Given the description of an element on the screen output the (x, y) to click on. 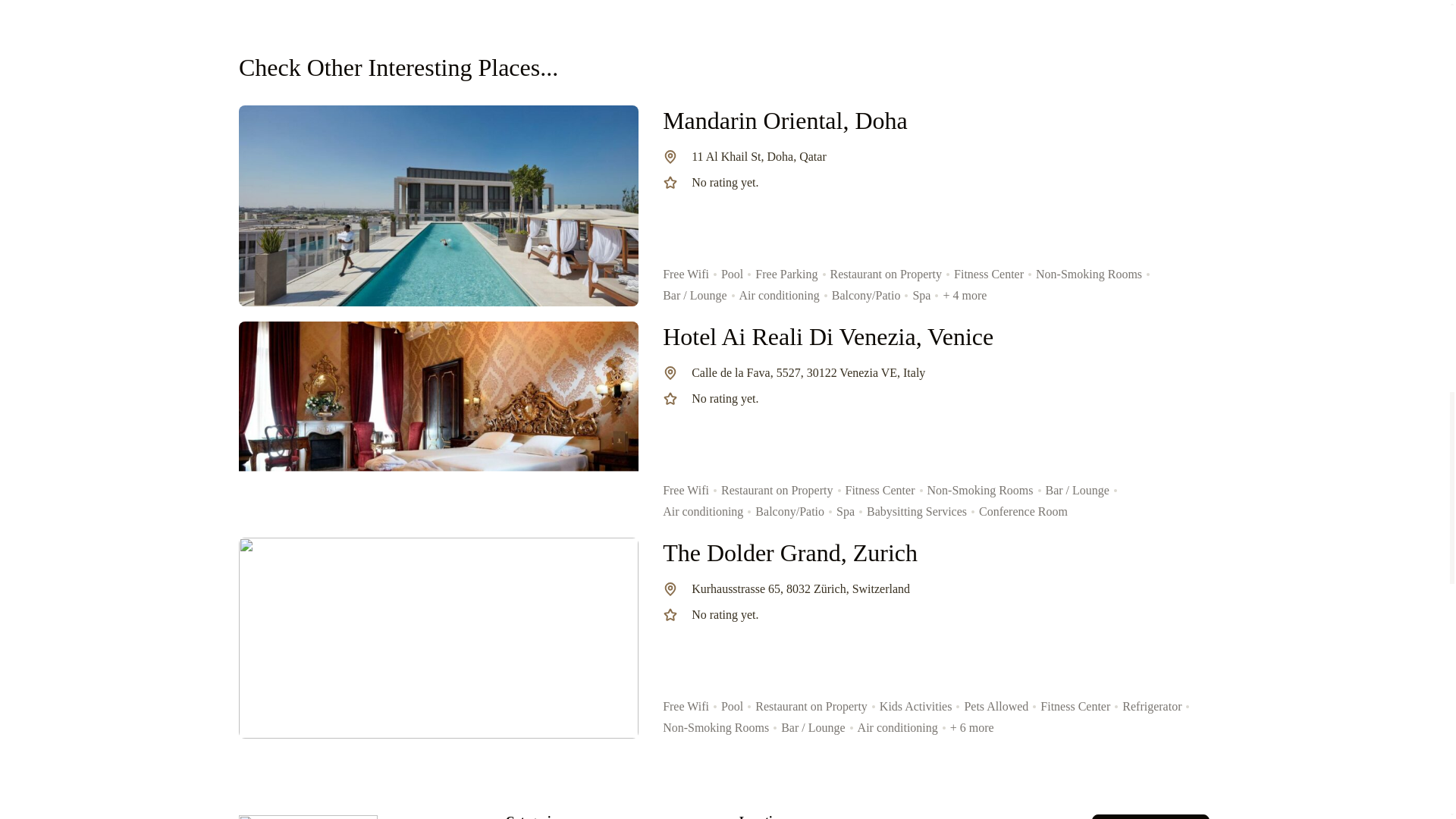
The Dolder Grand, Zurich (789, 552)
Mandarin Oriental, Doha (784, 120)
Hotel Ai Reali Di Venezia, Venice (827, 336)
